Given the description of an element on the screen output the (x, y) to click on. 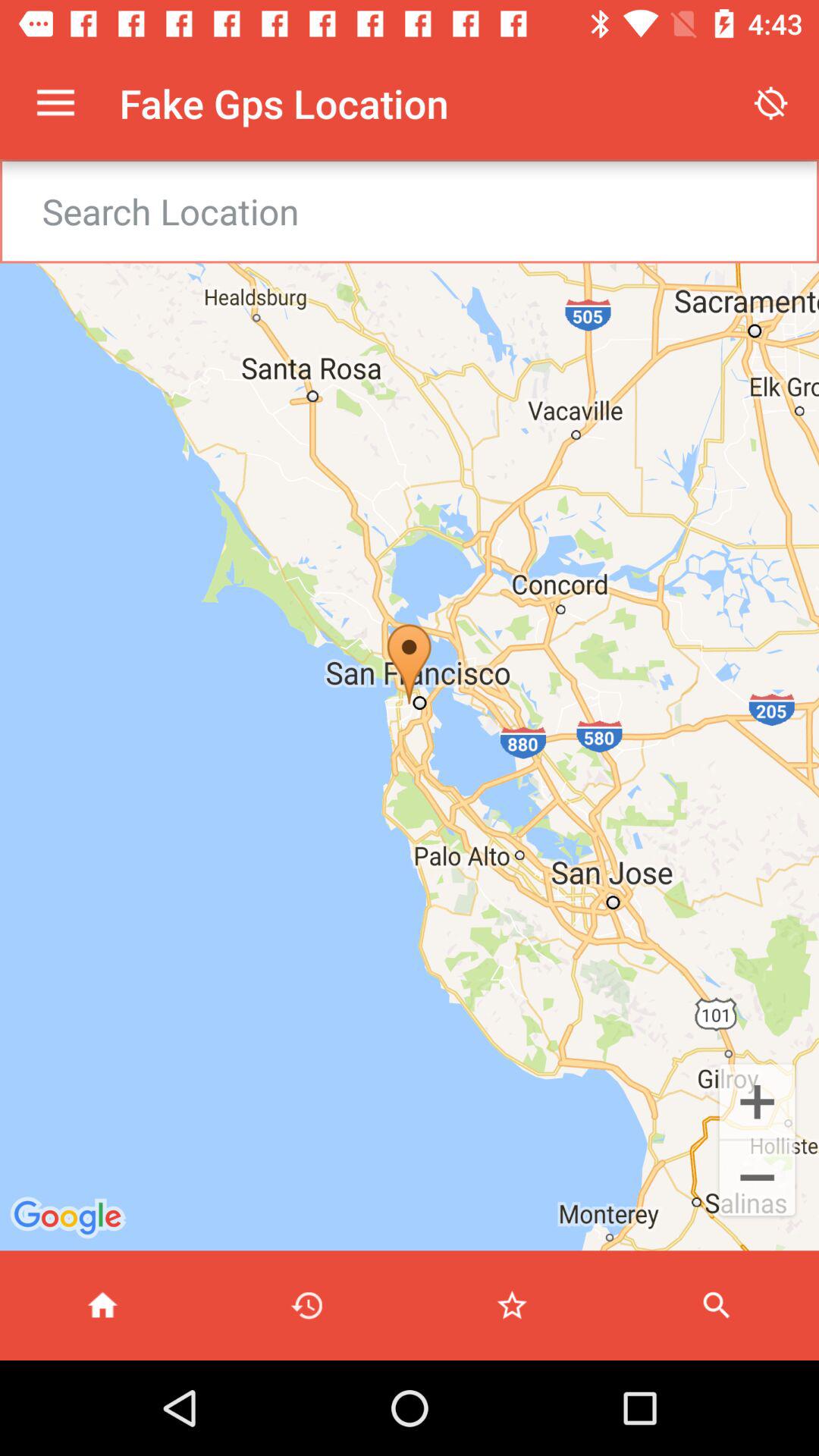
press the icon at the top left corner (55, 103)
